Given the description of an element on the screen output the (x, y) to click on. 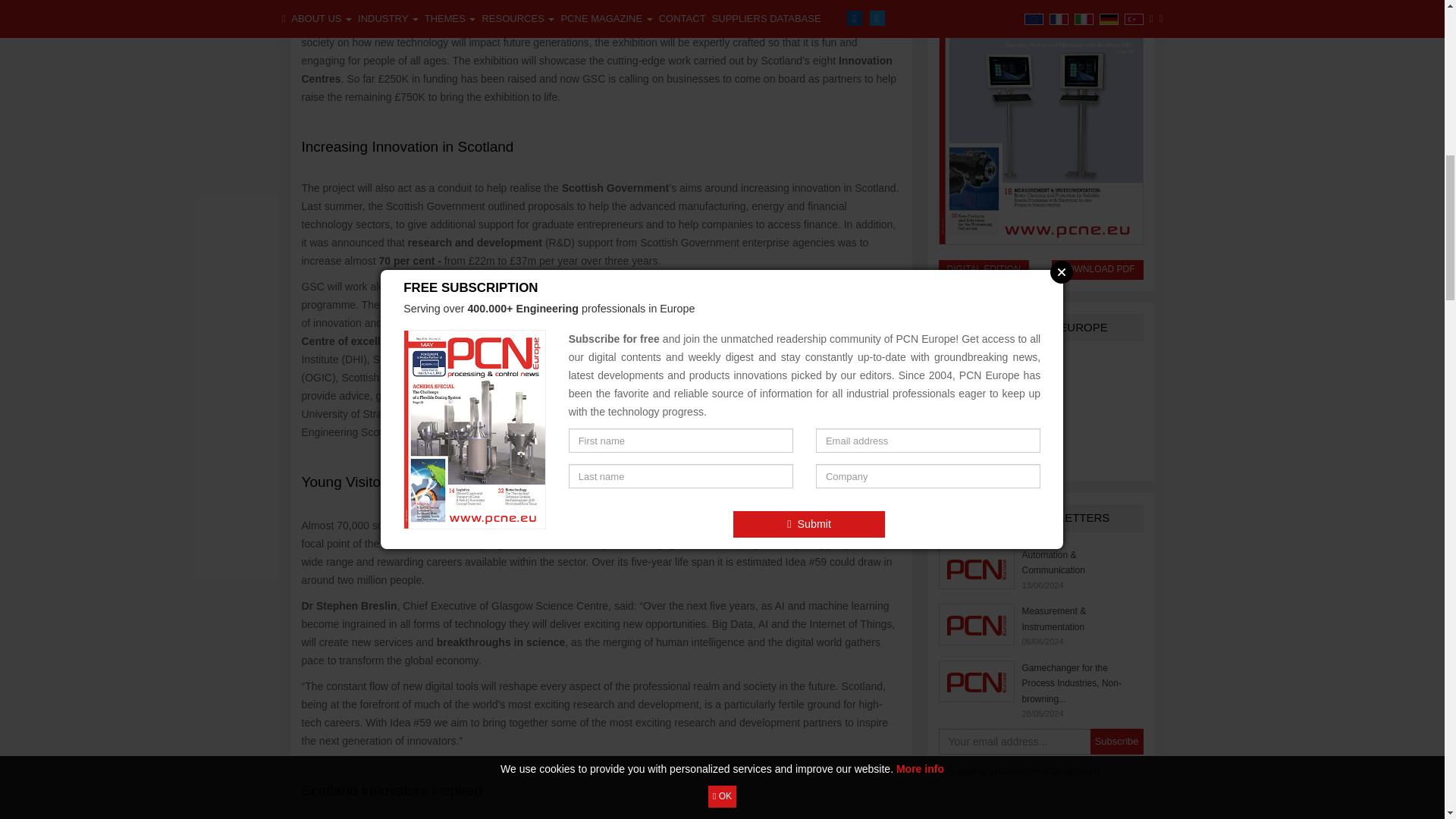
on (944, 769)
